Given the description of an element on the screen output the (x, y) to click on. 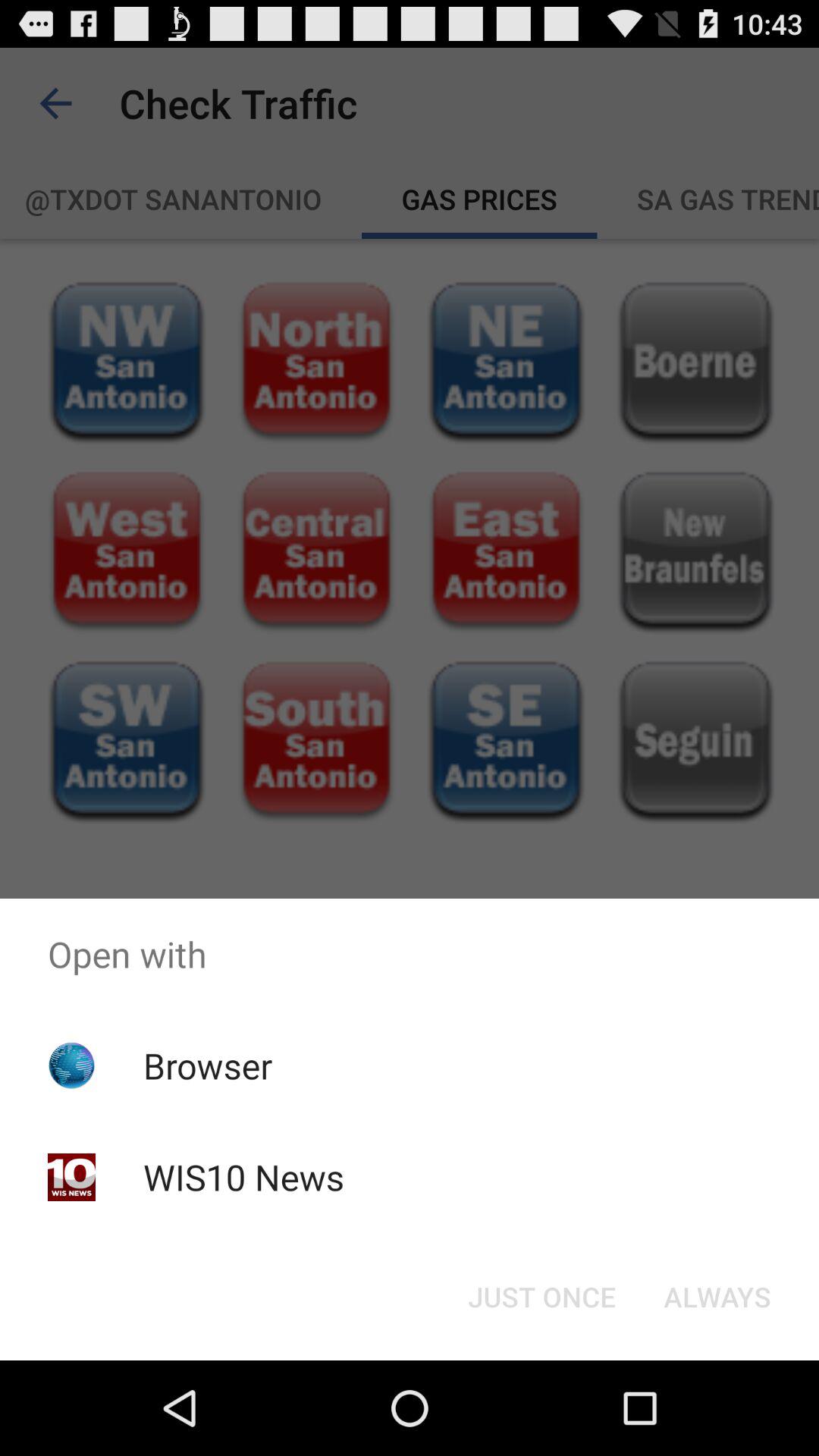
click wis10 news app (243, 1176)
